Given the description of an element on the screen output the (x, y) to click on. 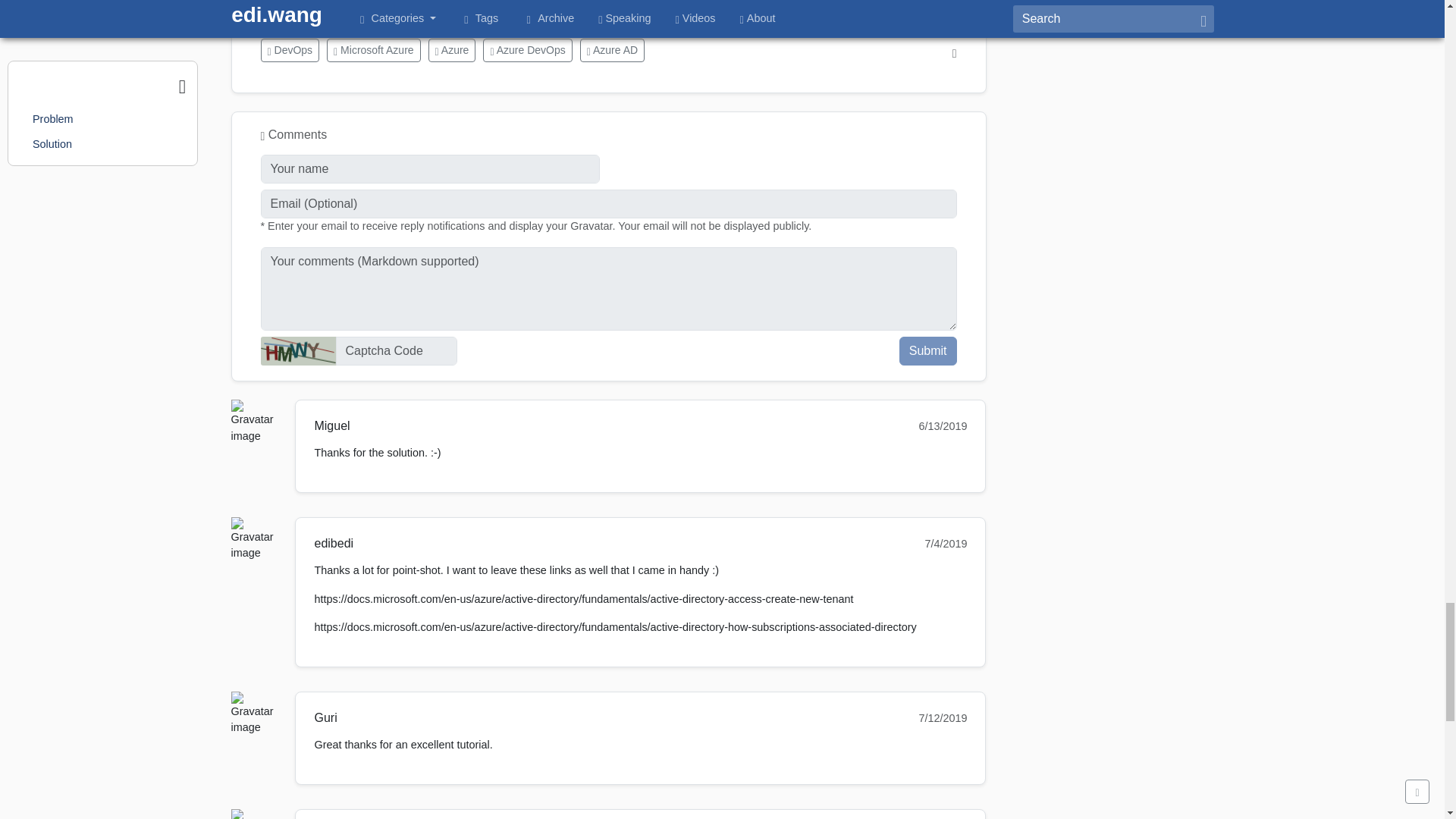
Azure DevOps (527, 50)
Azure AD (612, 50)
DevOps (290, 50)
Microsoft Azure (373, 50)
Tweet (274, 5)
Azure (452, 50)
Submit (927, 350)
